Given the description of an element on the screen output the (x, y) to click on. 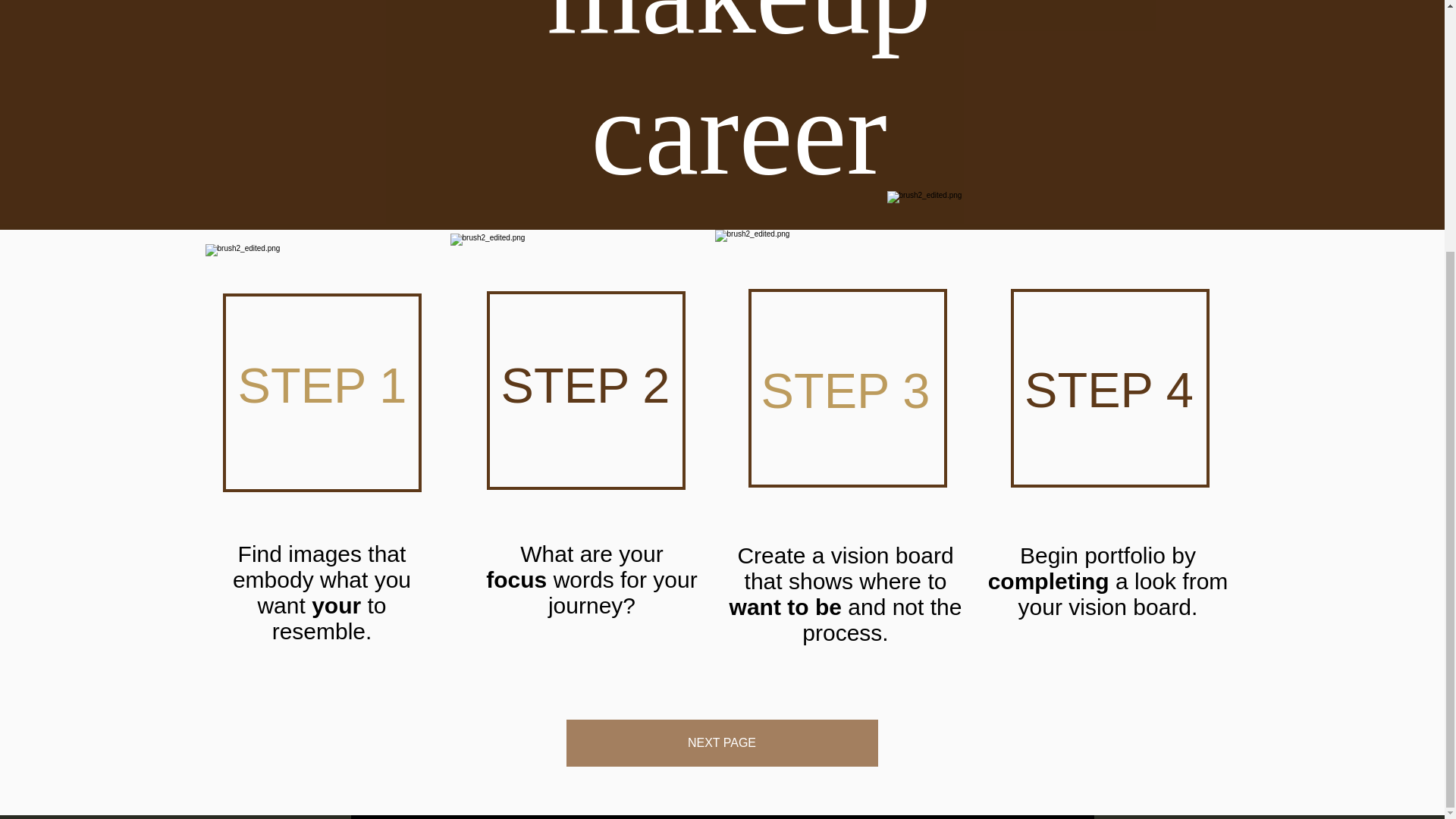
NEXT PAGE (721, 742)
